Given the description of an element on the screen output the (x, y) to click on. 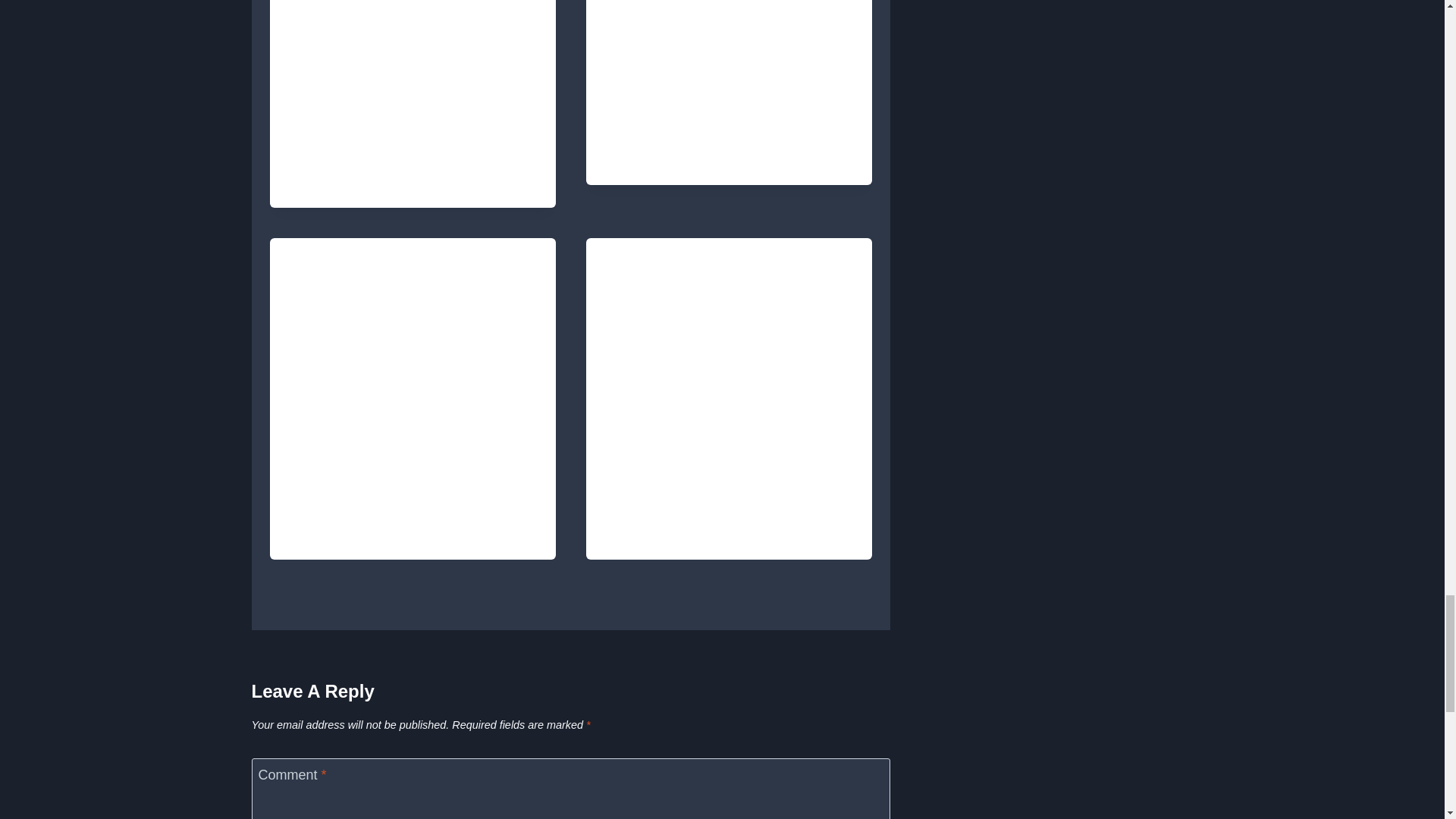
Five Industries Changing With The Help Of DevOps (719, 124)
Five Industries Changing With The Help Of Devops (729, 38)
